Given the description of an element on the screen output the (x, y) to click on. 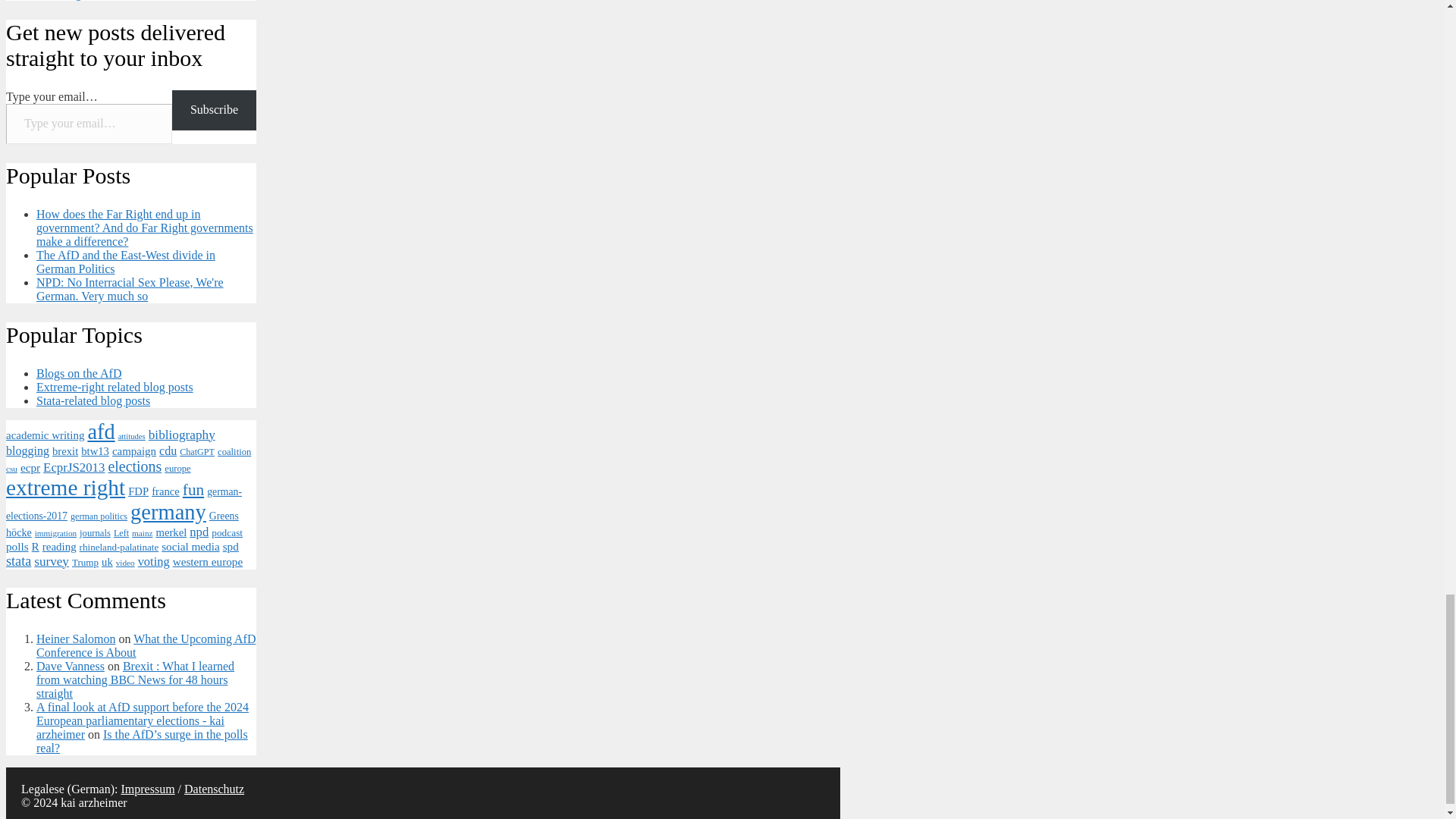
Please fill in this field. (88, 124)
